Given the description of an element on the screen output the (x, y) to click on. 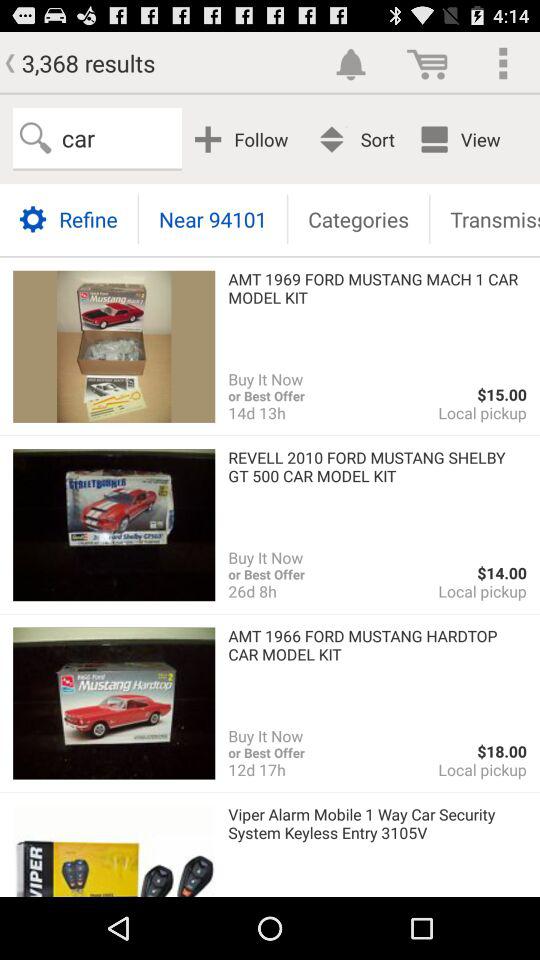
click icon below follow app (358, 218)
